Given the description of an element on the screen output the (x, y) to click on. 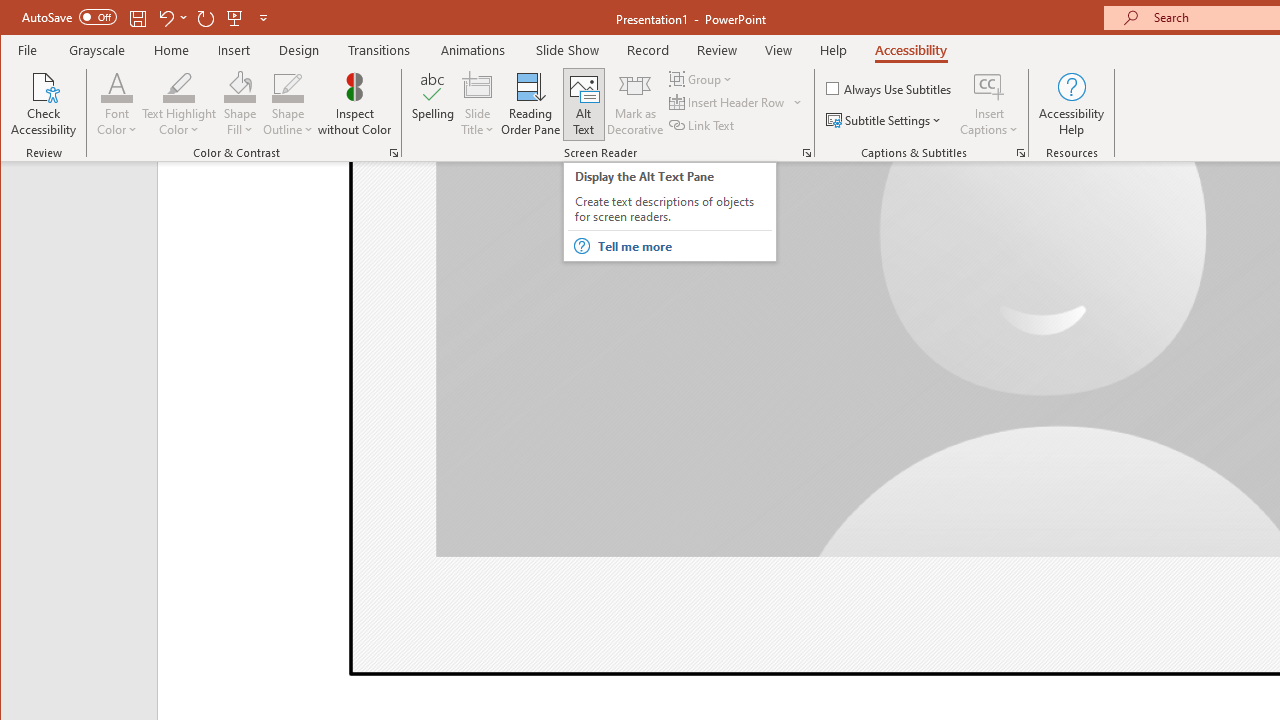
Inspect without Color (355, 104)
Always Use Subtitles (890, 88)
